Given the description of an element on the screen output the (x, y) to click on. 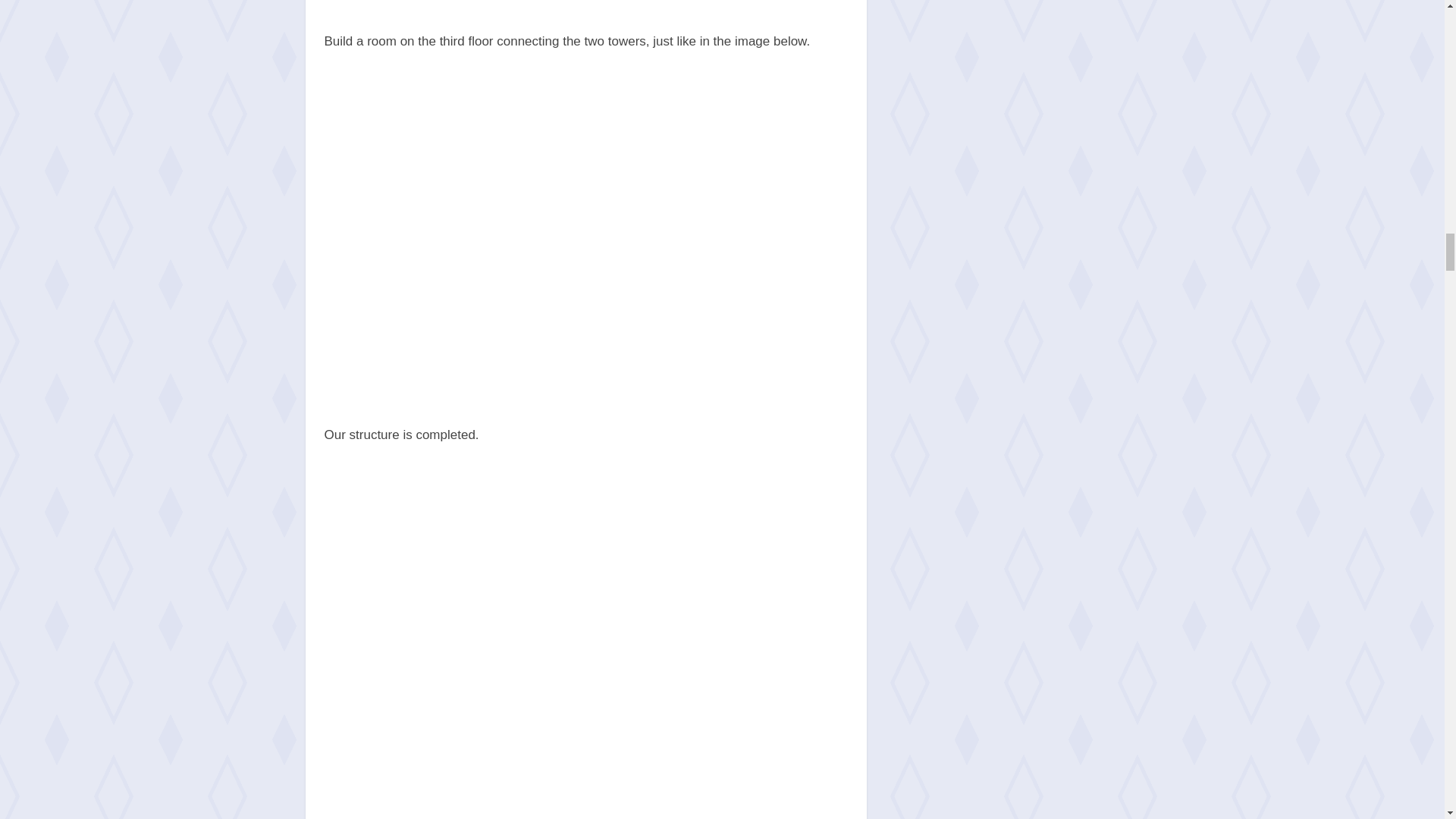
The Sims 4 Building: Creating Suspended Buildings 11 (585, 3)
